Given the description of an element on the screen output the (x, y) to click on. 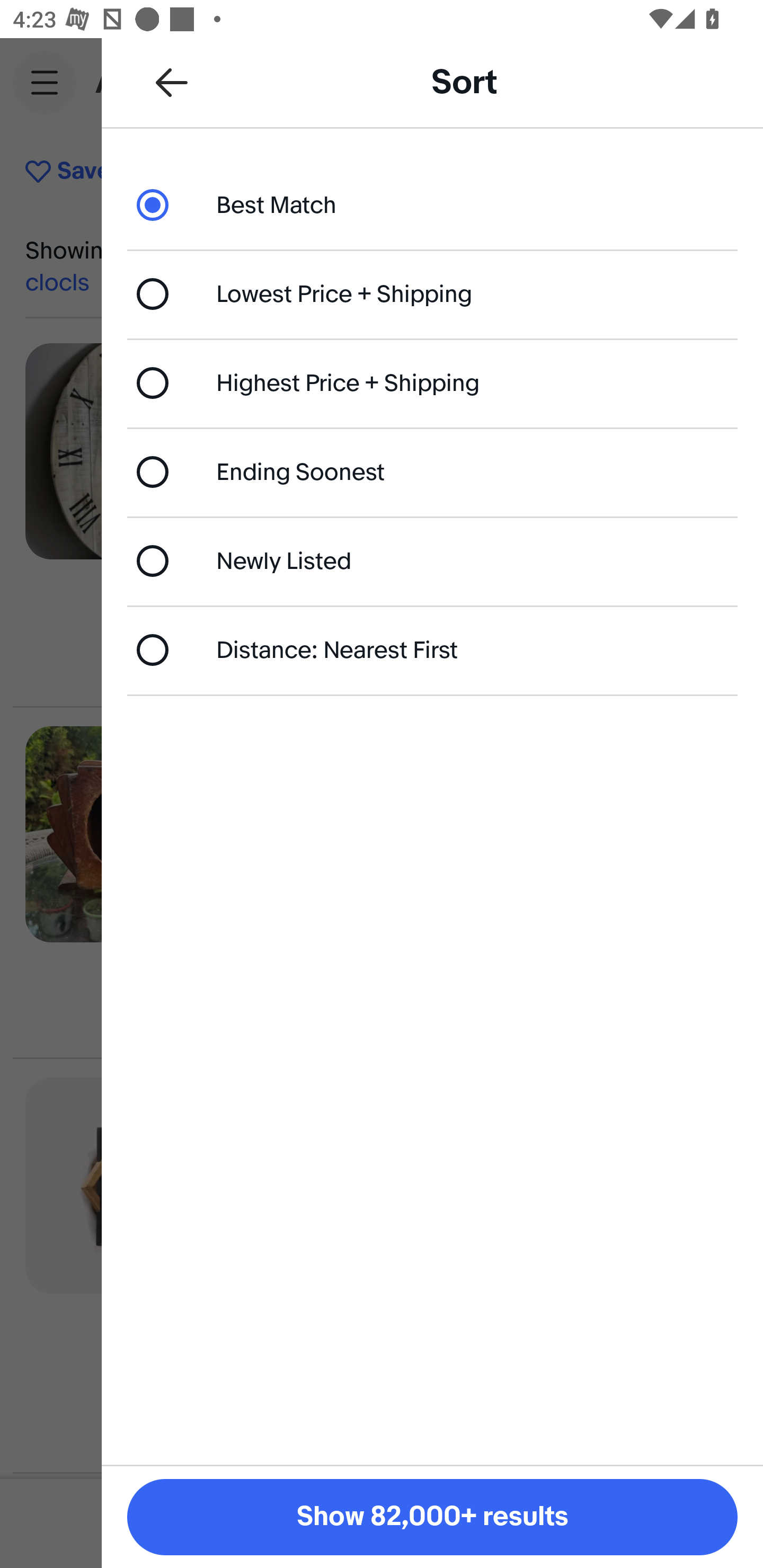
Back to all refinements (171, 81)
Best Match - currently selected Best Match (432, 204)
Lowest Price + Shipping (432, 293)
Highest Price + Shipping (432, 383)
Ending Soonest (432, 471)
Newly Listed (432, 560)
Distance: Nearest First (432, 649)
Show 82,000+ results (432, 1516)
